Given the description of an element on the screen output the (x, y) to click on. 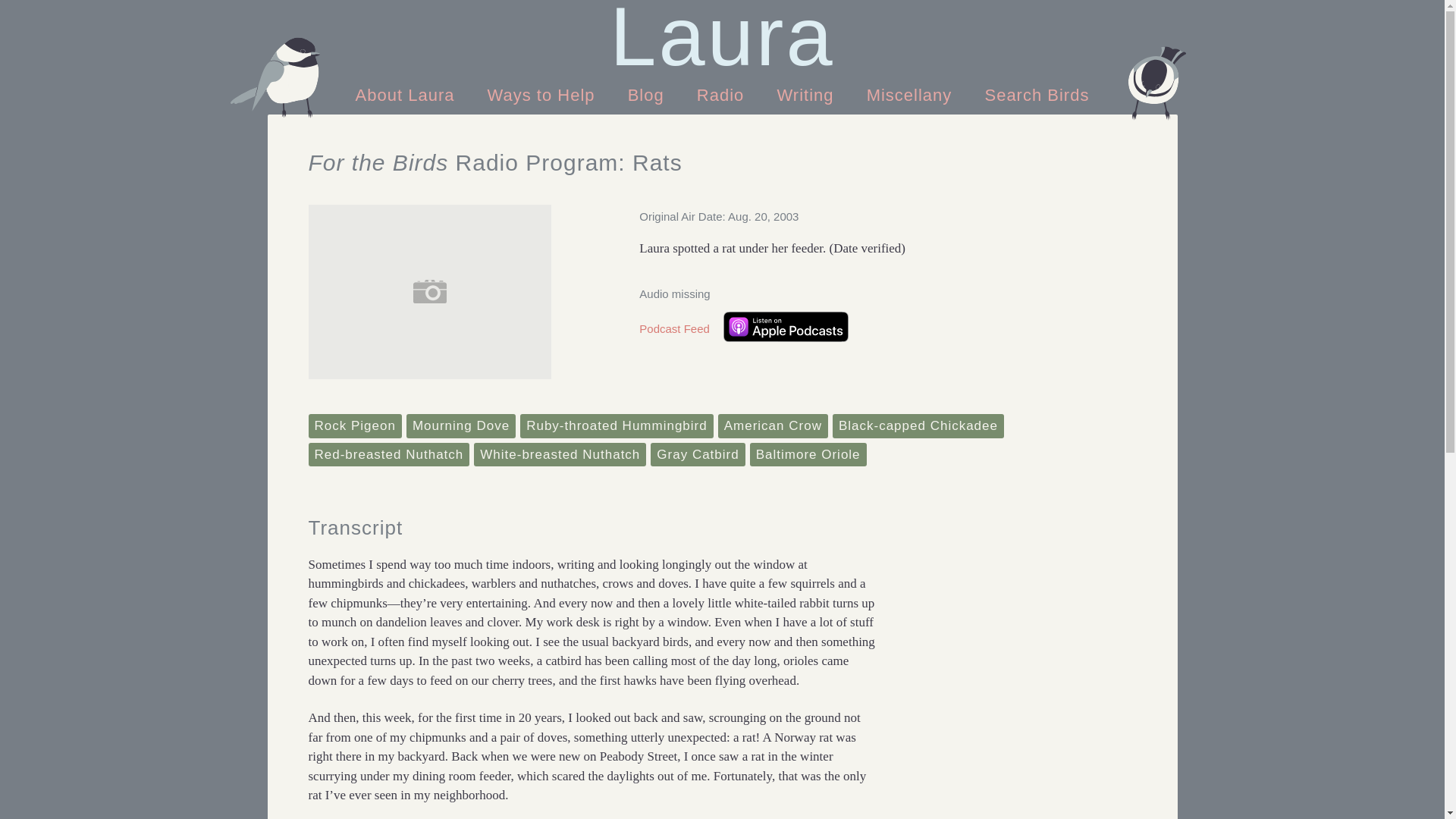
American Crow (772, 426)
Writing (804, 94)
Ruby-throated Hummingbird (616, 426)
Laura Erickson's For the Birds (721, 36)
Black-capped Chickadee (918, 426)
About Laura (408, 94)
Mourning Dove (460, 426)
Blog (646, 94)
Gray Catbird (697, 454)
Red-breasted Nuthatch (387, 454)
